Given the description of an element on the screen output the (x, y) to click on. 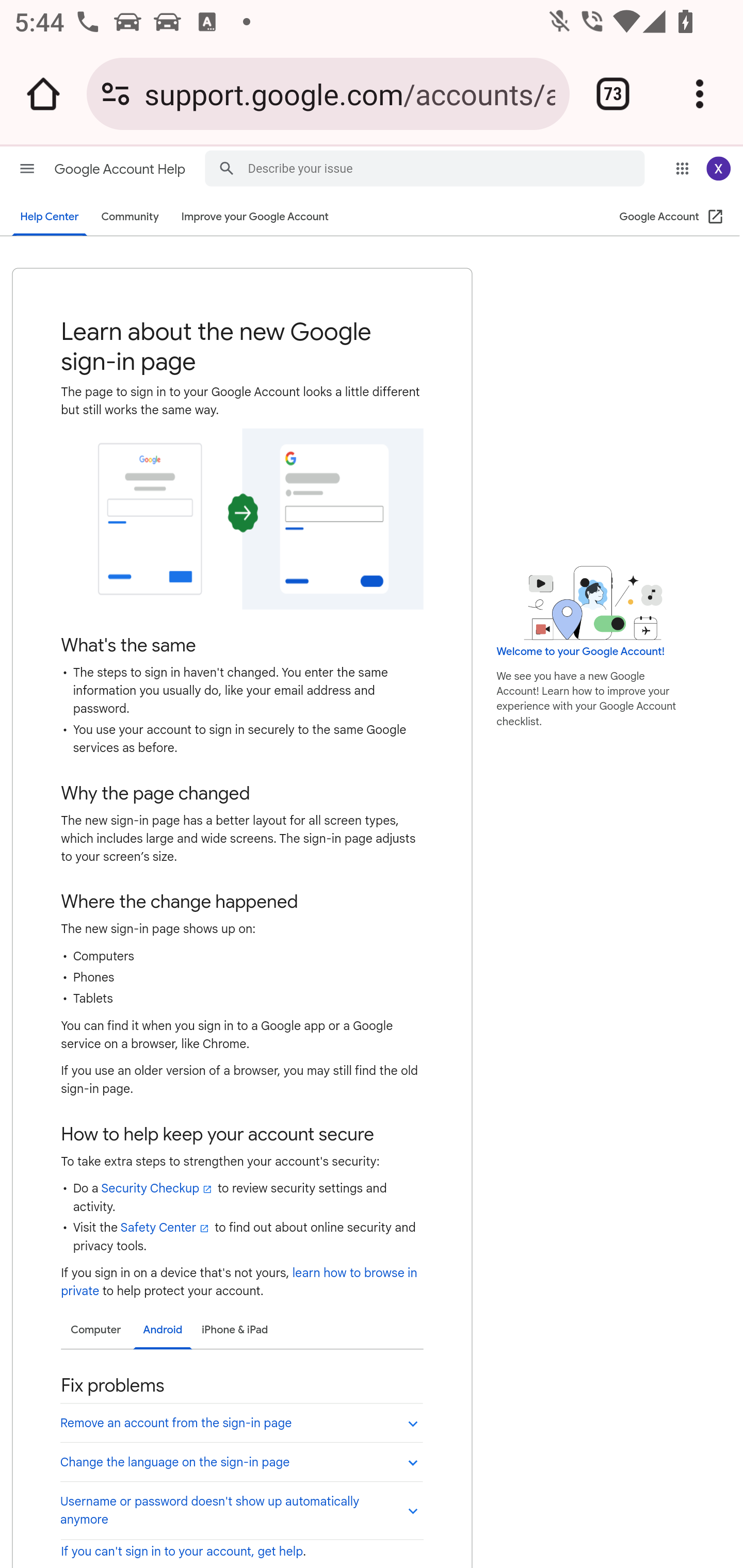
Open the home page (43, 93)
Connection is secure (115, 93)
Switch or close tabs (612, 93)
Customize and control Google Chrome (699, 93)
